Given the description of an element on the screen output the (x, y) to click on. 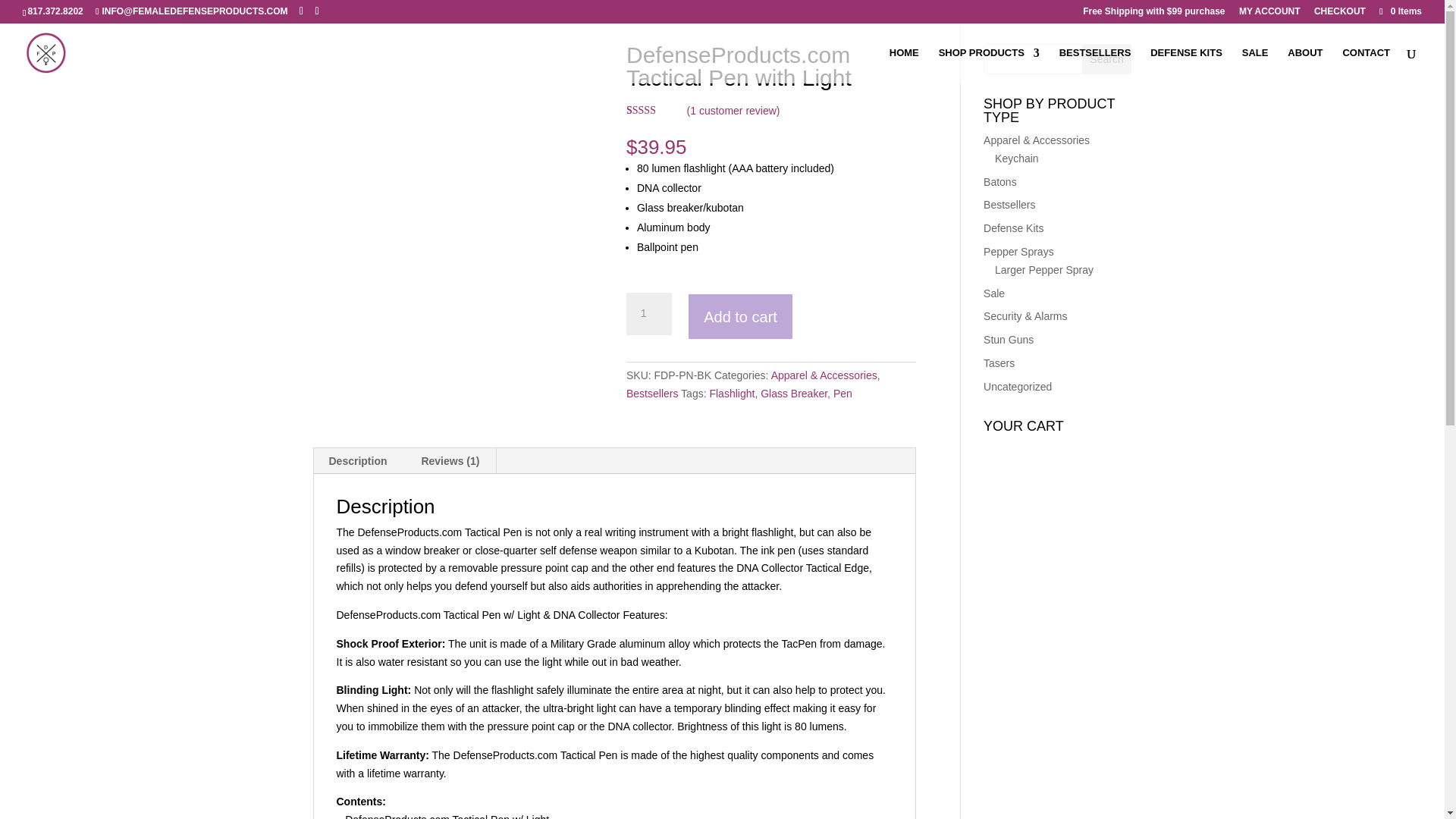
Glass Breaker (793, 393)
BESTSELLERS (1095, 65)
DEFENSE KITS (1186, 65)
CONTACT (1366, 65)
MY ACCOUNT (1269, 14)
SHOP PRODUCTS (989, 65)
1 (648, 313)
CHECKOUT (1339, 14)
Description (358, 460)
Bestsellers (652, 393)
